Given the description of an element on the screen output the (x, y) to click on. 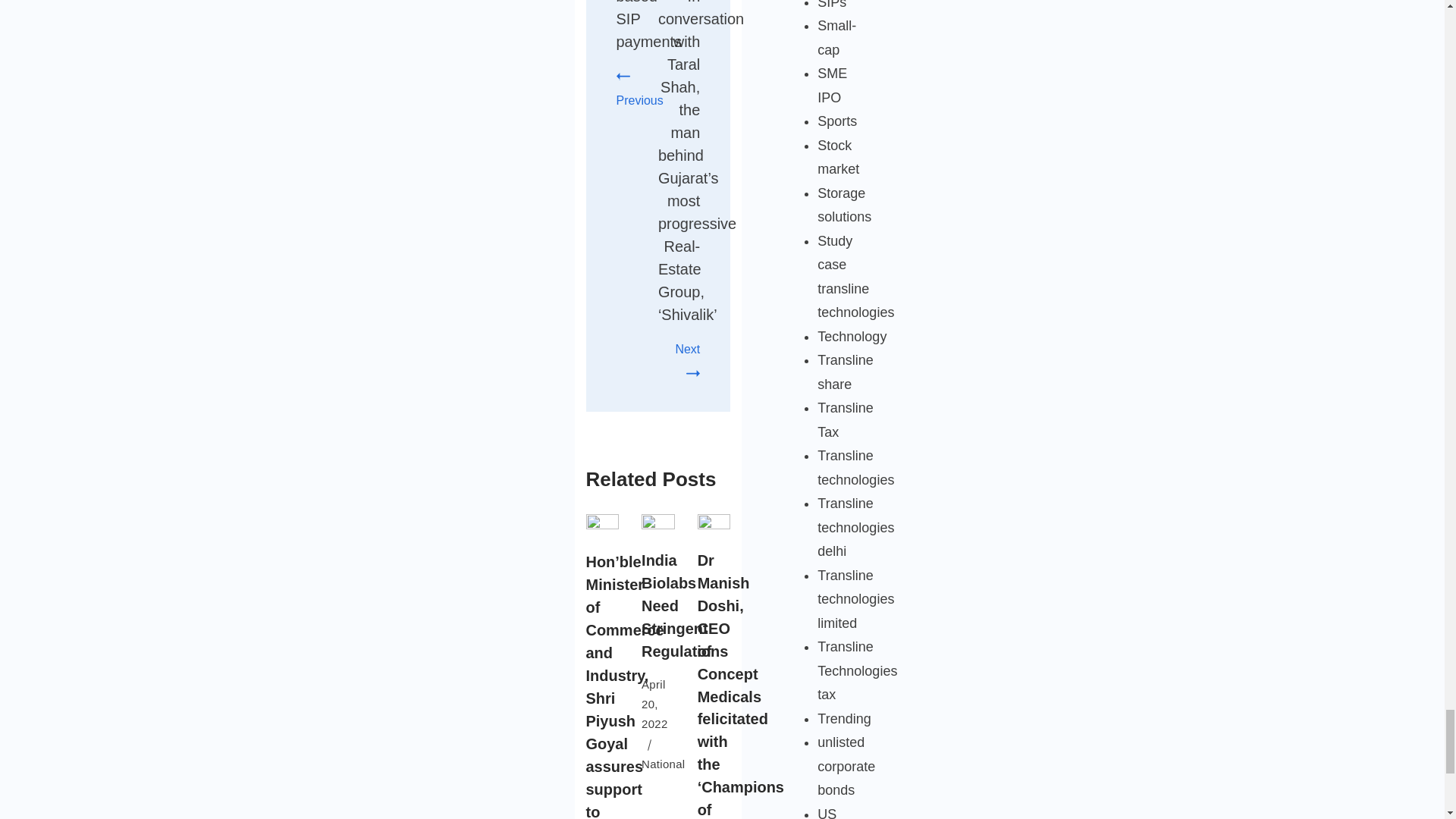
National (663, 763)
Previous (638, 88)
